Given the description of an element on the screen output the (x, y) to click on. 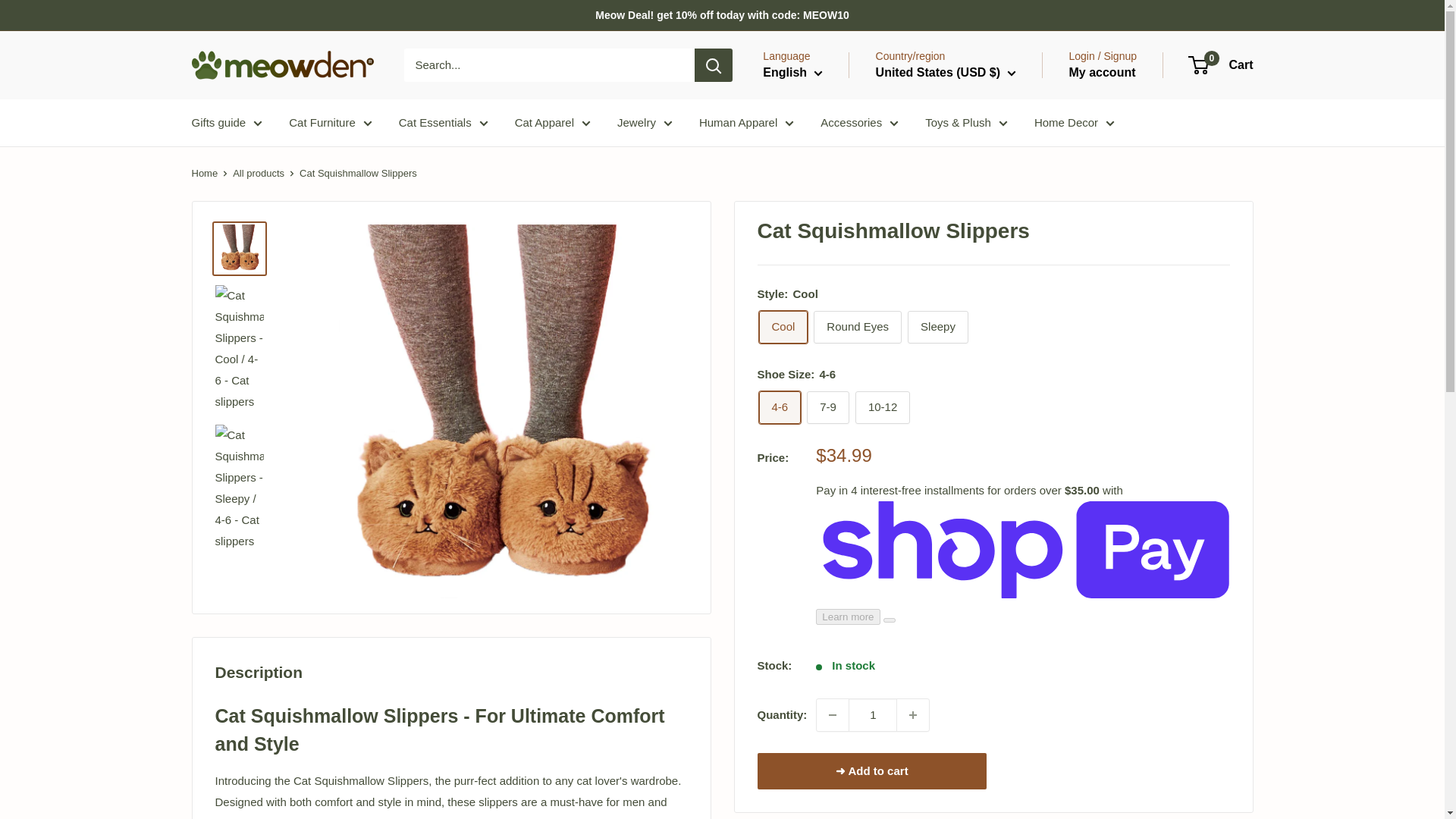
Increase quantity by 1 (912, 715)
10-12 (883, 407)
1 (872, 715)
7-9 (827, 407)
Round Eyes (857, 327)
Cool (783, 327)
Sleepy (937, 327)
Decrease quantity by 1 (832, 715)
4-6 (779, 407)
